Given the description of an element on the screen output the (x, y) to click on. 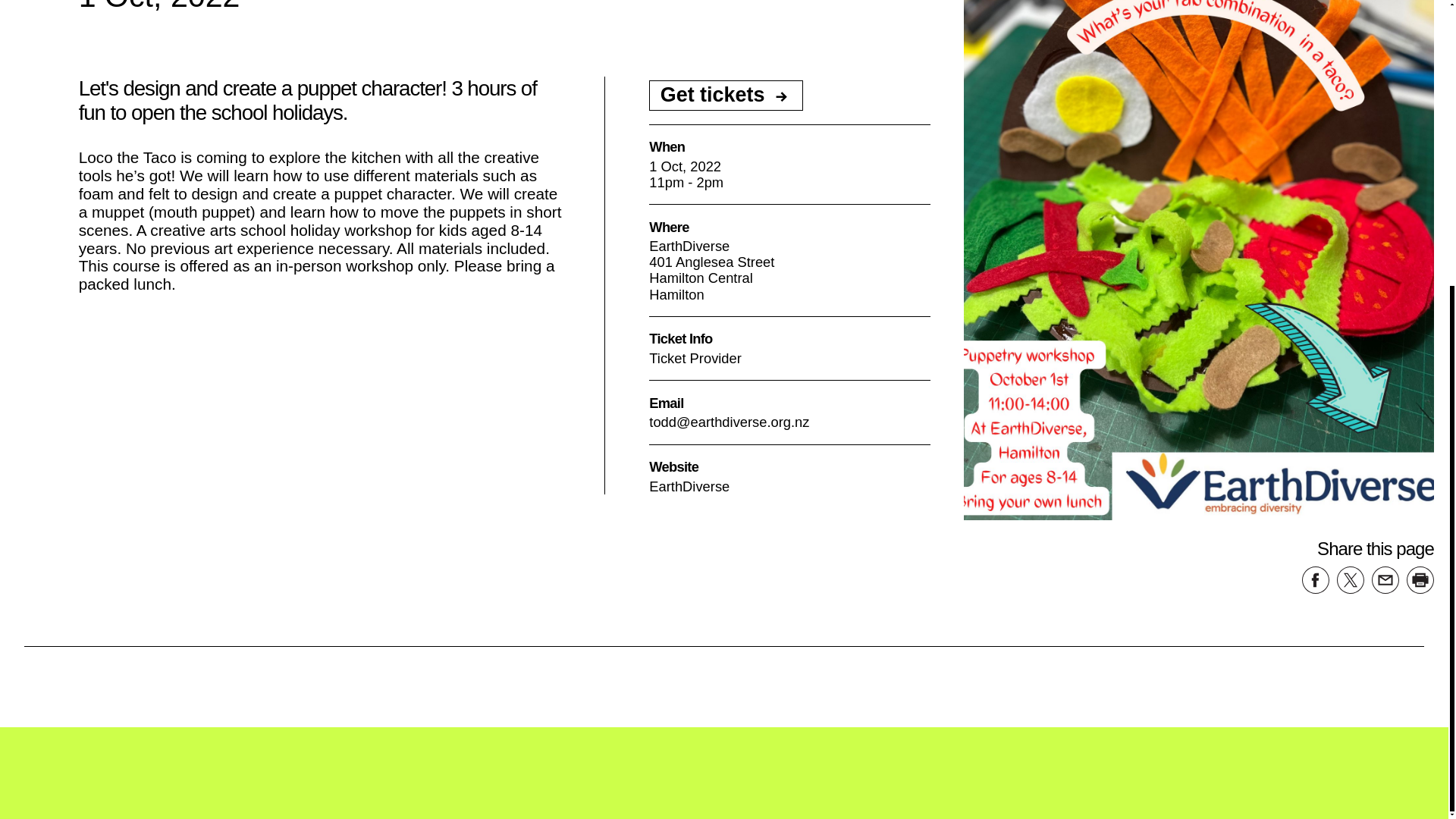
EarthDiverse (689, 486)
Get tickets (726, 95)
